Given the description of an element on the screen output the (x, y) to click on. 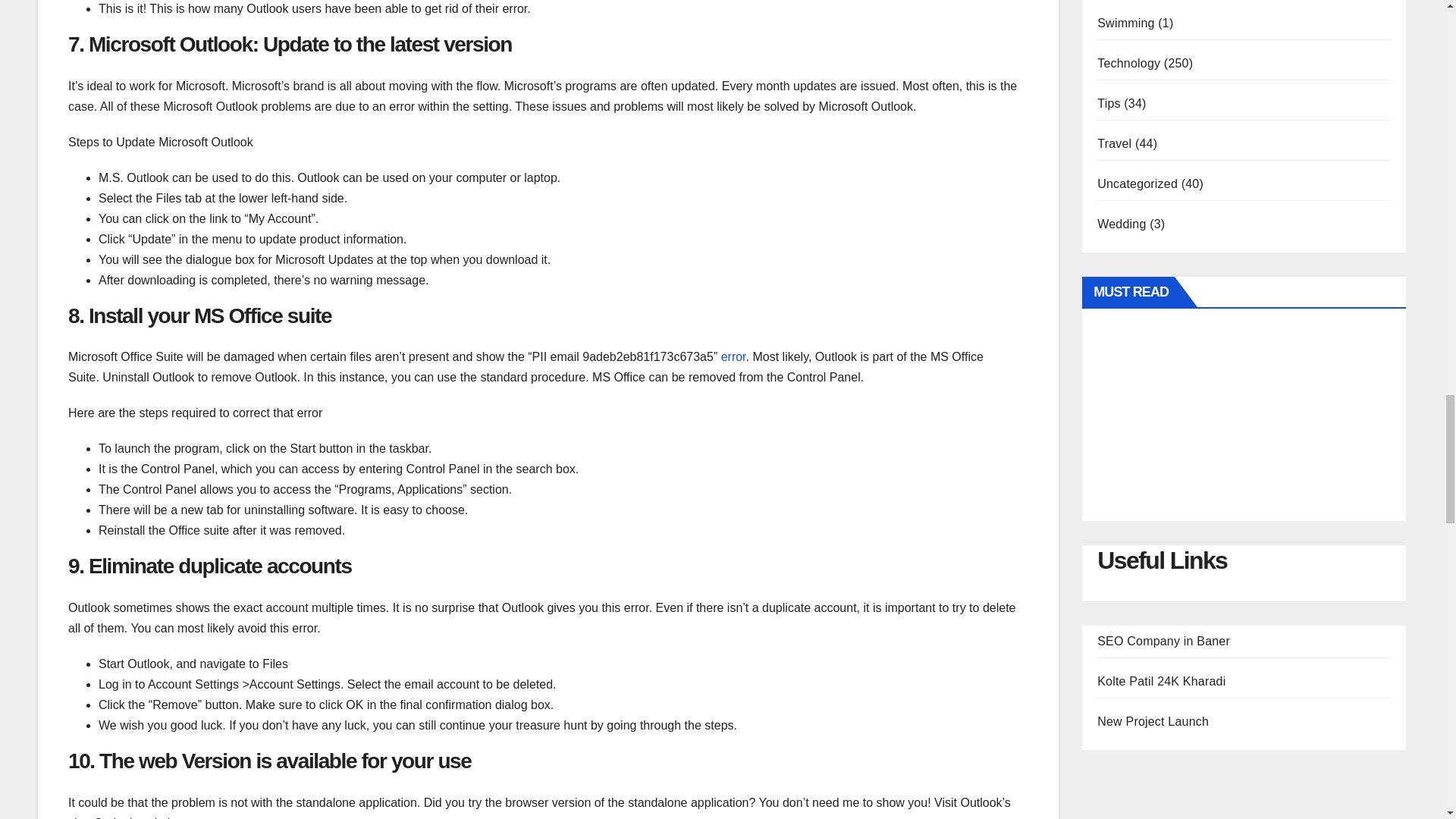
error (732, 356)
